Given the description of an element on the screen output the (x, y) to click on. 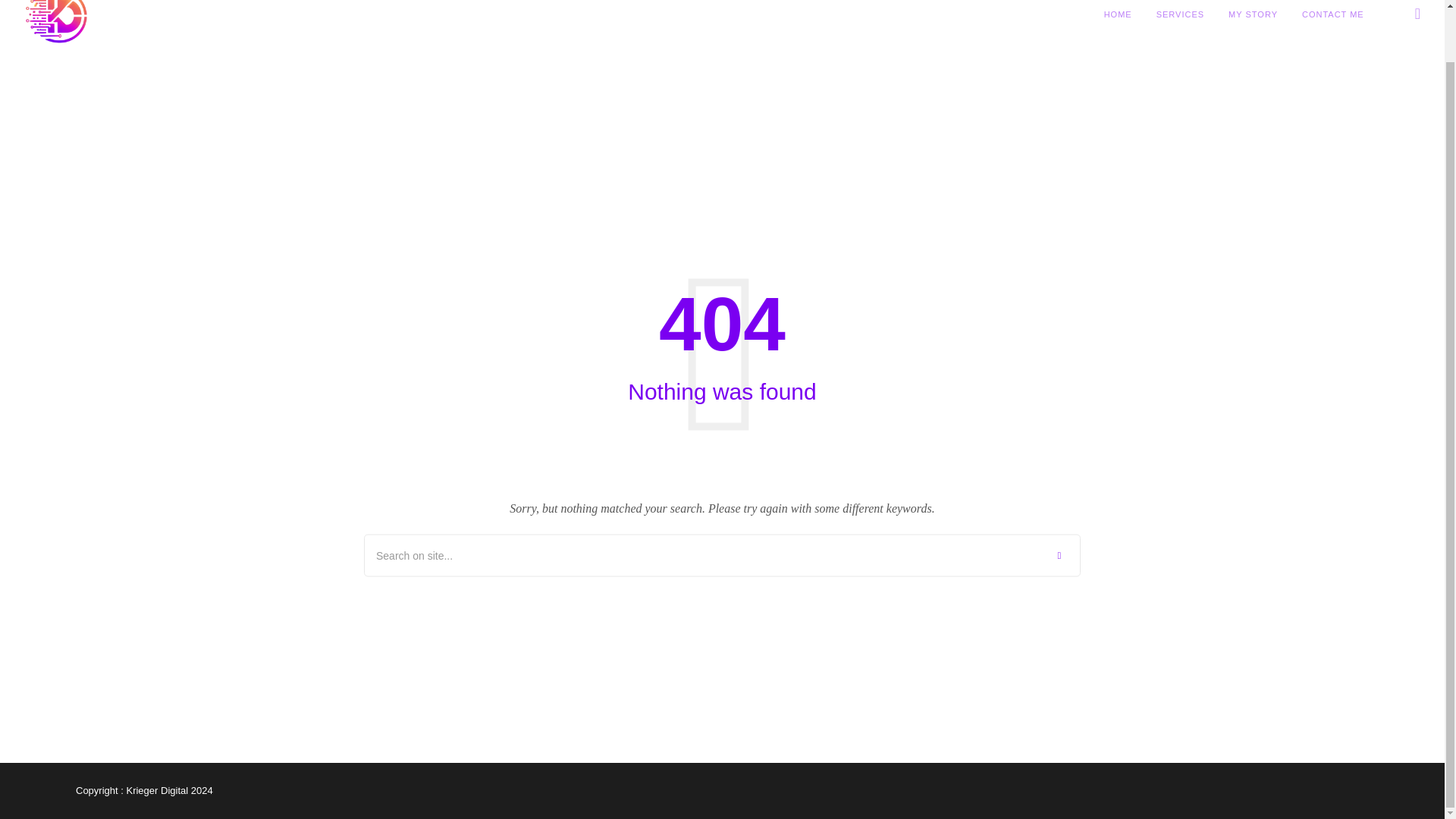
SERVICES (1180, 25)
MY STORY (1253, 25)
CONTACT ME (1332, 25)
